Given the description of an element on the screen output the (x, y) to click on. 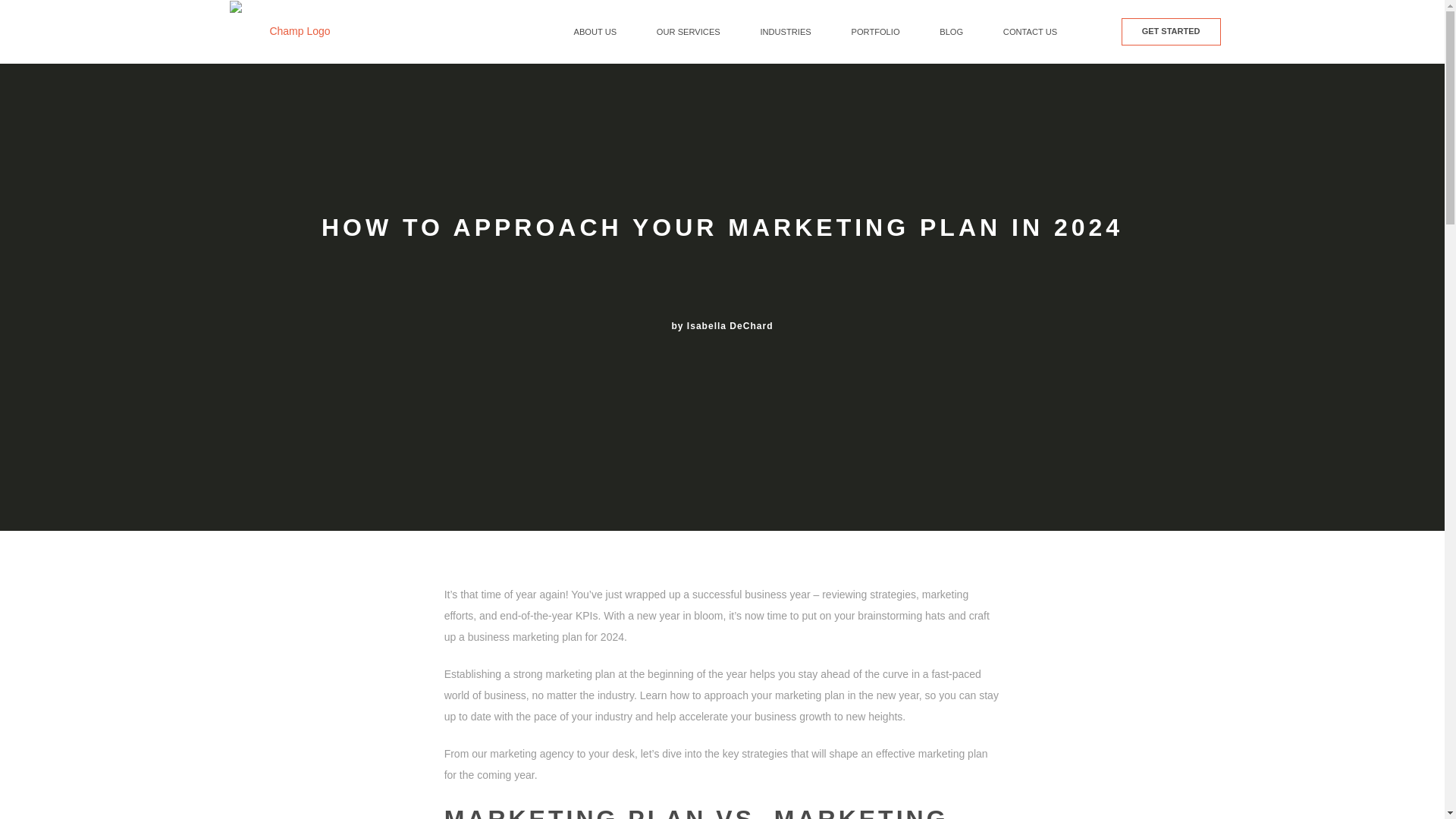
GET STARTED (1171, 31)
BLOG (952, 32)
OUR SERVICES (689, 32)
ABOUT US (594, 32)
CONTACT US (1030, 32)
INDUSTRIES (785, 32)
PORTFOLIO (875, 32)
